Given the description of an element on the screen output the (x, y) to click on. 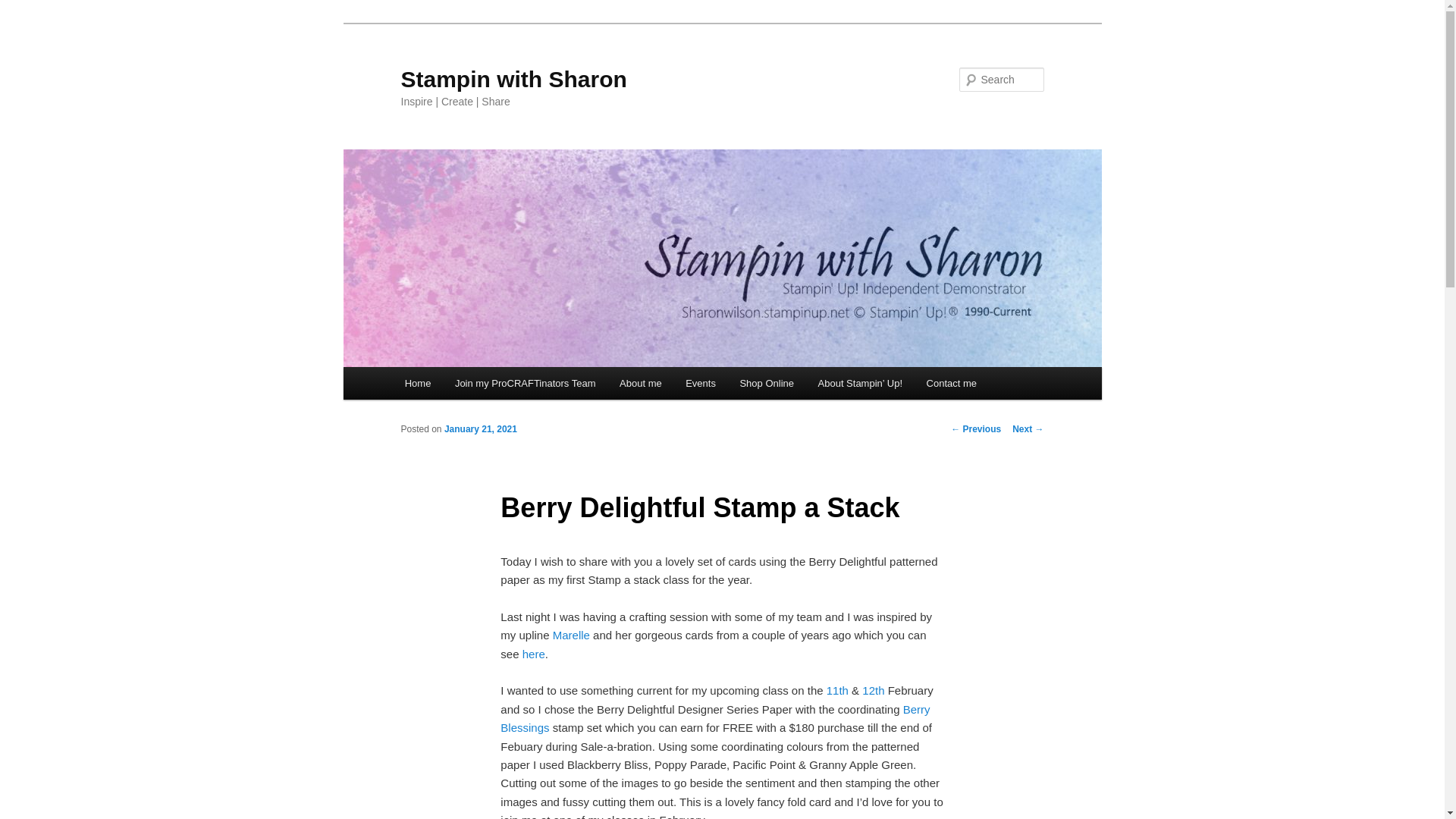
Berry Blessings (715, 717)
Search (24, 8)
Shop Online (767, 382)
Contact me (951, 382)
12th (872, 689)
About me (639, 382)
here (533, 653)
Marelle (571, 634)
Join my ProCRAFTinators Team (524, 382)
11th (837, 689)
10:10 am (480, 429)
January 21, 2021 (480, 429)
Stampin with Sharon (513, 78)
Events (699, 382)
